Given the description of an element on the screen output the (x, y) to click on. 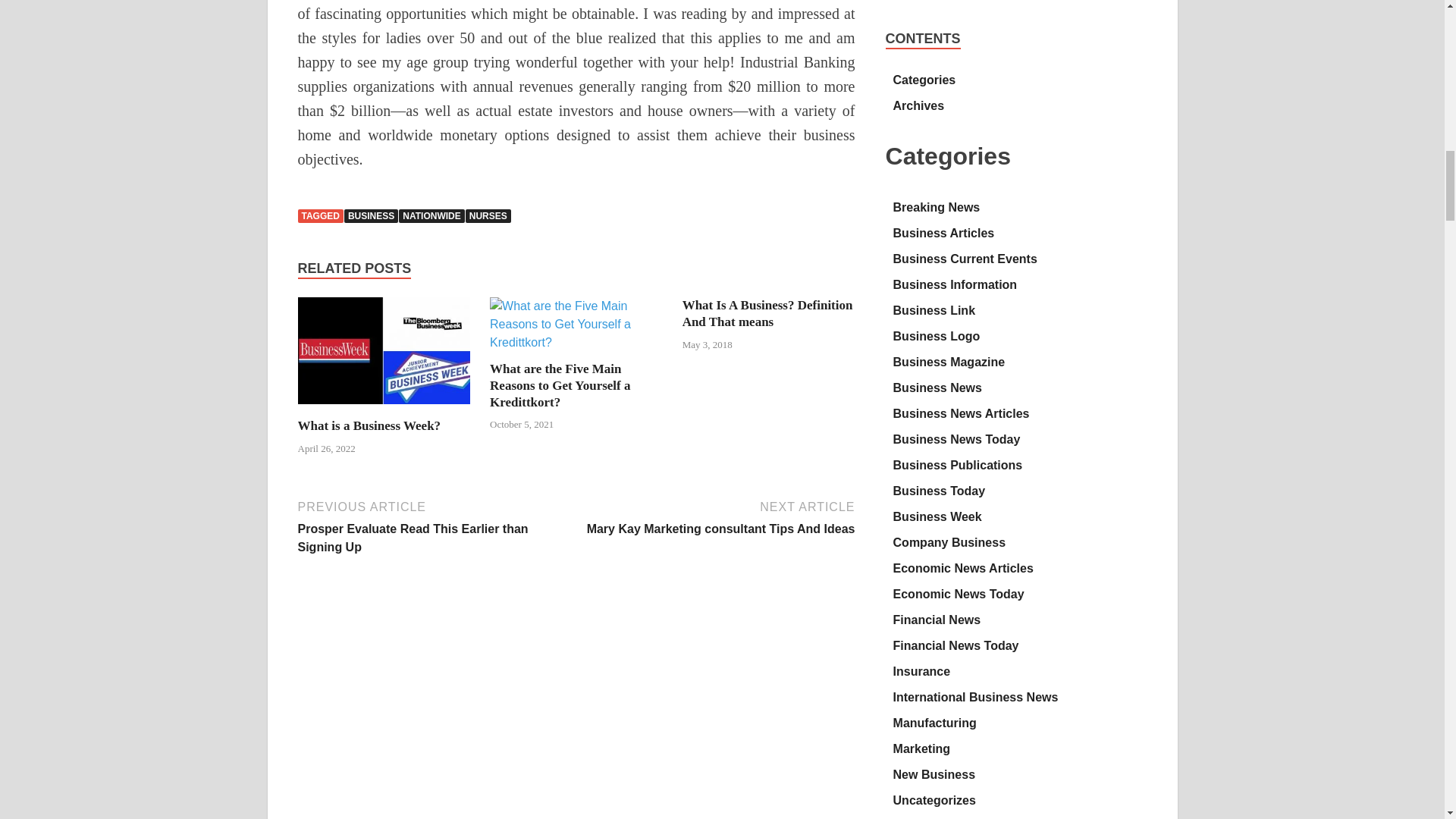
What is a Business Week? (369, 425)
NATIONWIDE (431, 215)
NURSES (488, 215)
BUSINESS (370, 215)
What is a Business Week? (383, 408)
What Is A Business? Definition And That means (767, 313)
